Given the description of an element on the screen output the (x, y) to click on. 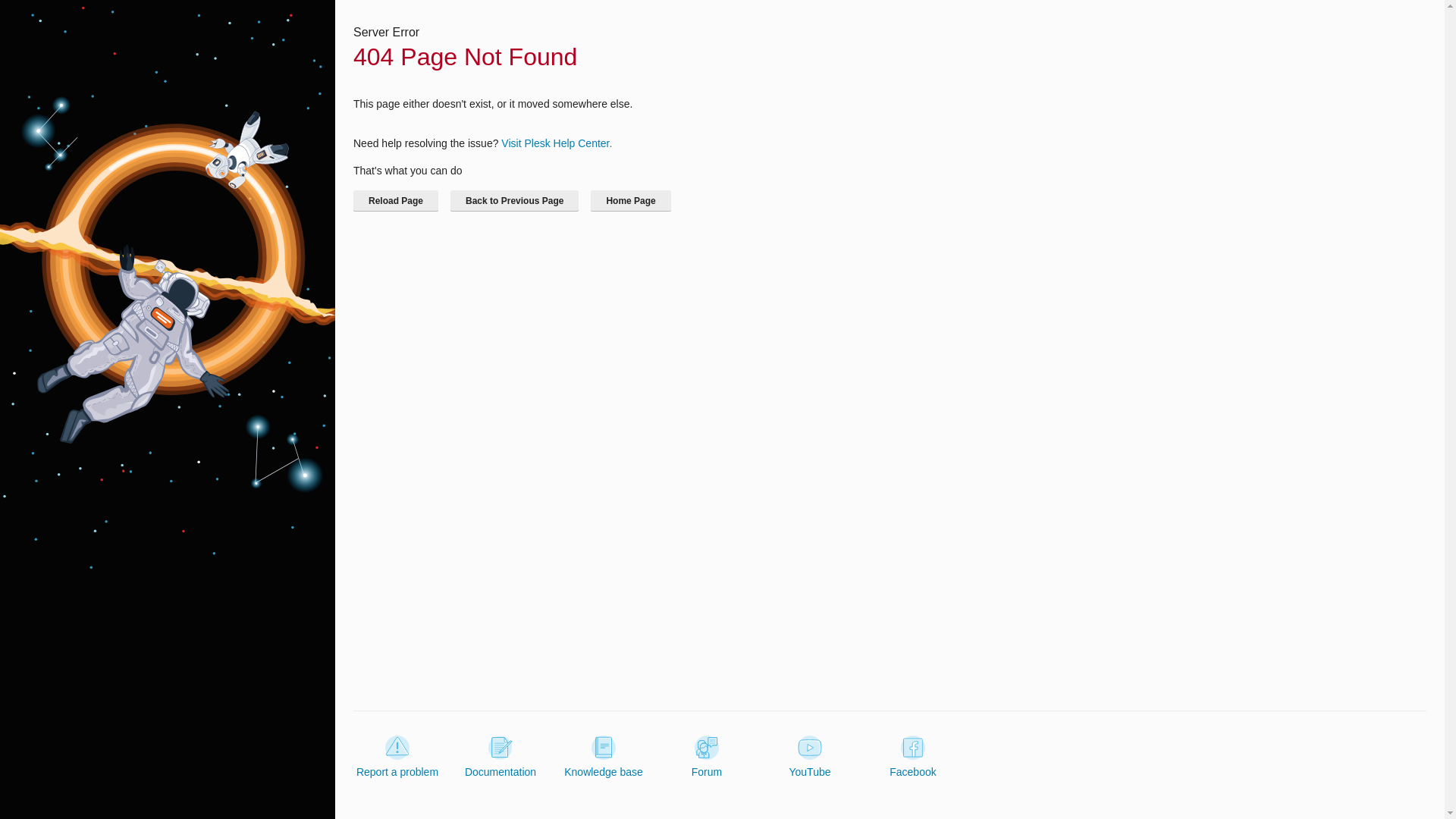
Back to Previous Page (513, 200)
Report a problem (397, 757)
Facebook (912, 757)
YouTube (809, 757)
Forum (706, 757)
Home Page (630, 200)
Knowledge base (603, 757)
Visit Plesk Help Center. (555, 143)
Reload Page (395, 200)
Documentation (500, 757)
